Given the description of an element on the screen output the (x, y) to click on. 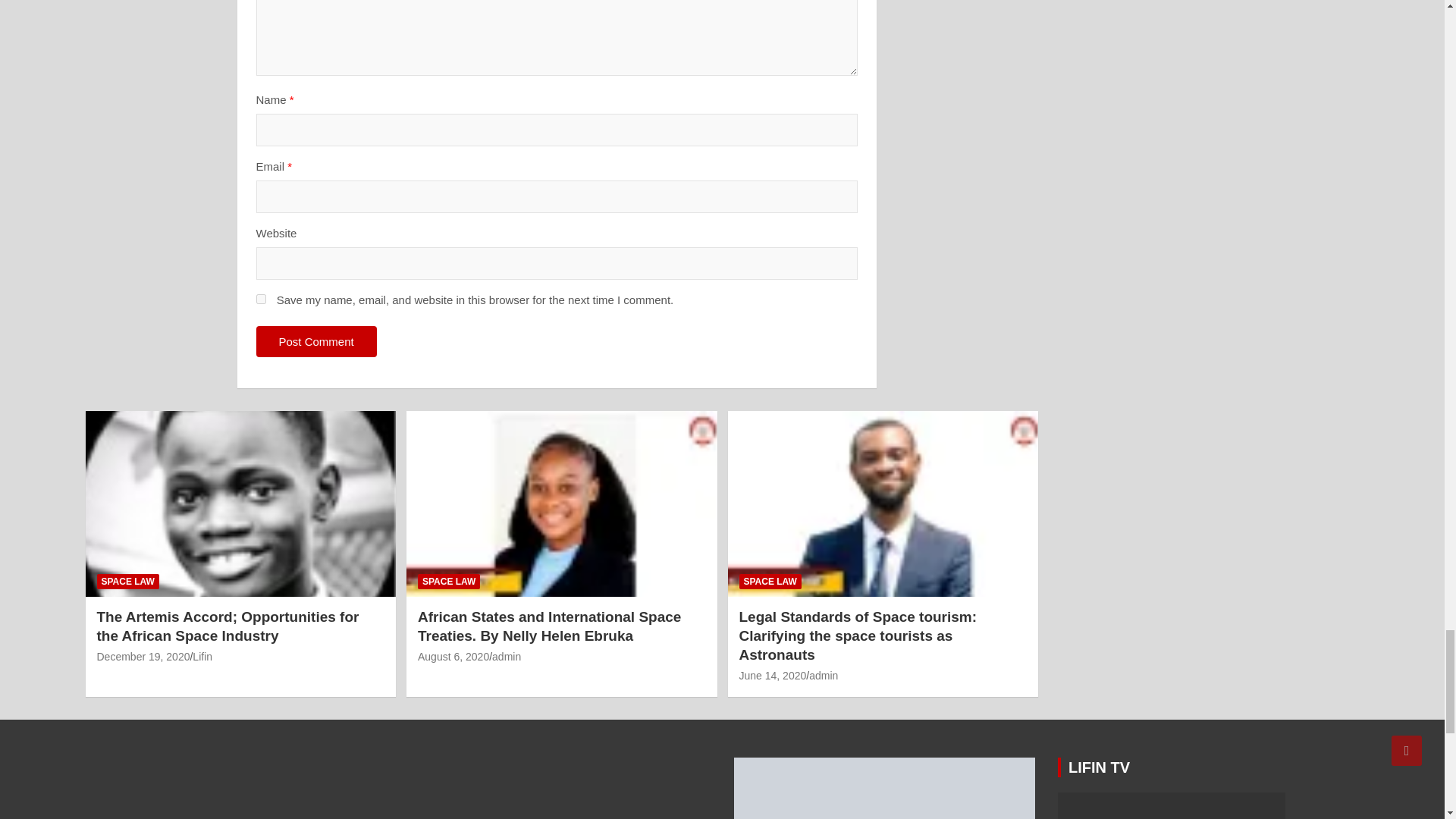
Post Comment (316, 341)
Post Comment (316, 341)
yes (261, 298)
